Given the description of an element on the screen output the (x, y) to click on. 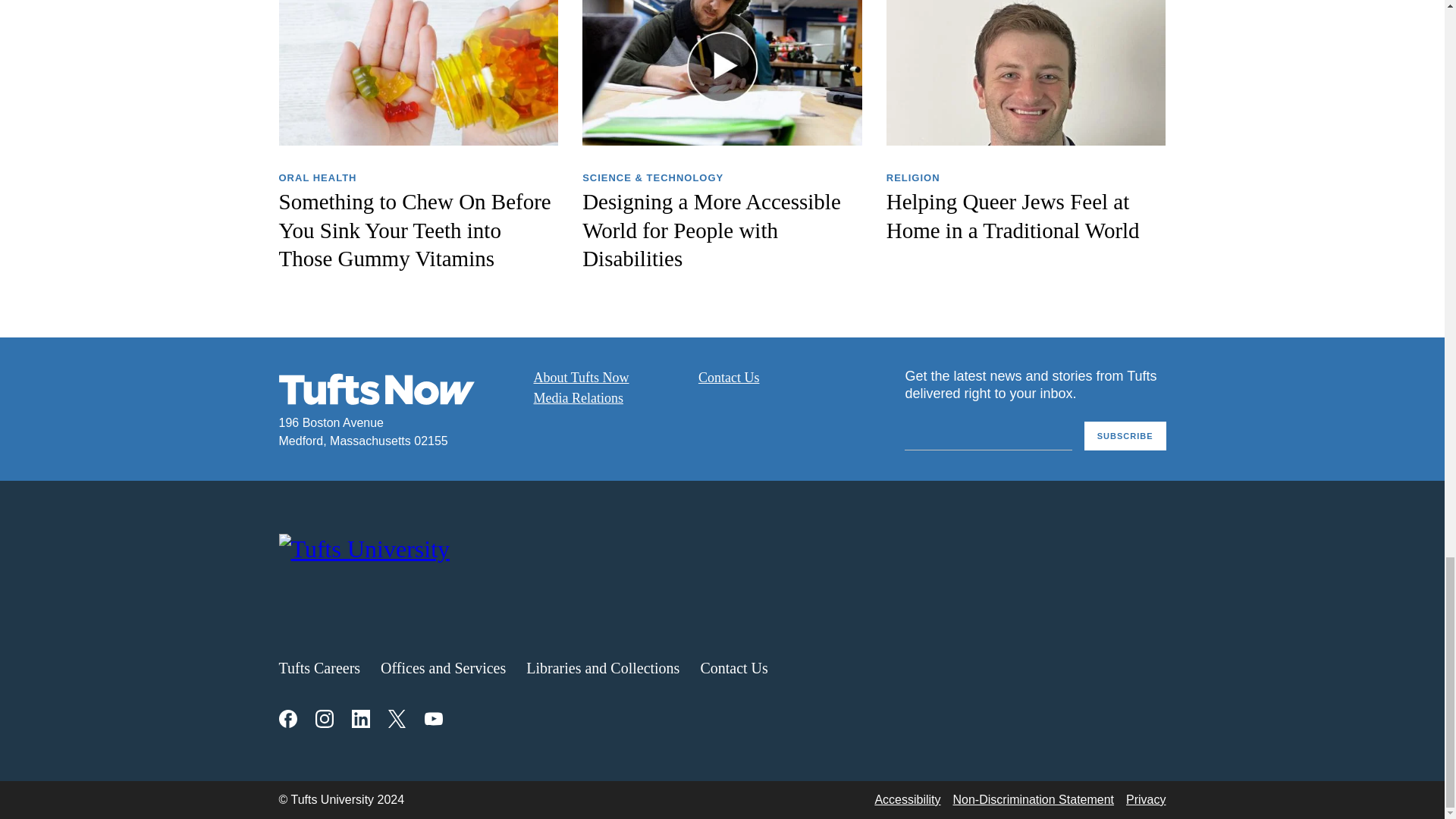
Subscribe (1125, 436)
